Given the description of an element on the screen output the (x, y) to click on. 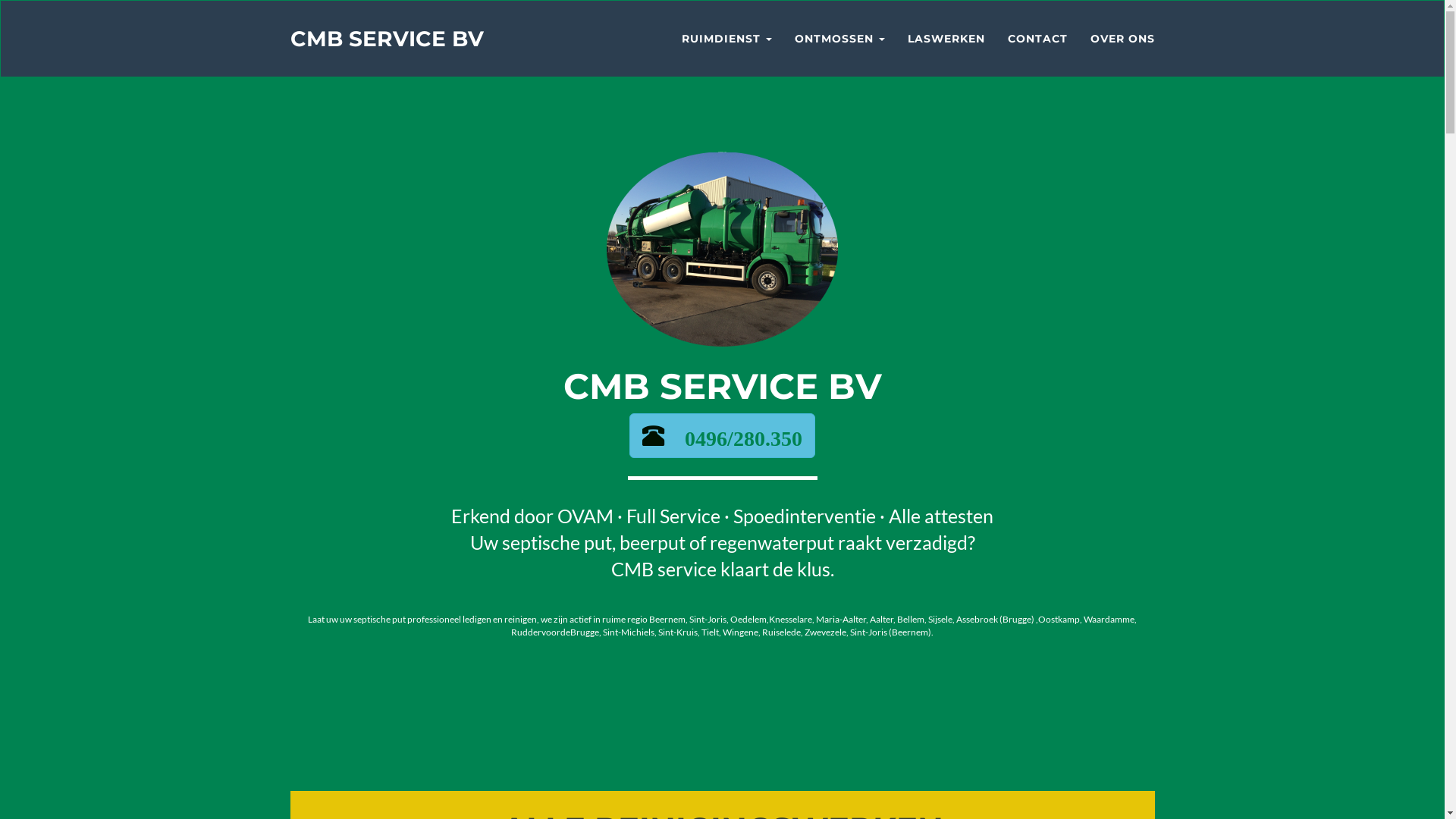
RUIMDIENST Element type: text (726, 38)
OVER ONS Element type: text (1121, 38)
LASWERKEN Element type: text (946, 38)
CONTACT Element type: text (1037, 38)
CMB SERVICE BV Element type: text (387, 38)
ONTMOSSEN Element type: text (838, 38)
0496/280.350 Element type: text (732, 435)
